Given the description of an element on the screen output the (x, y) to click on. 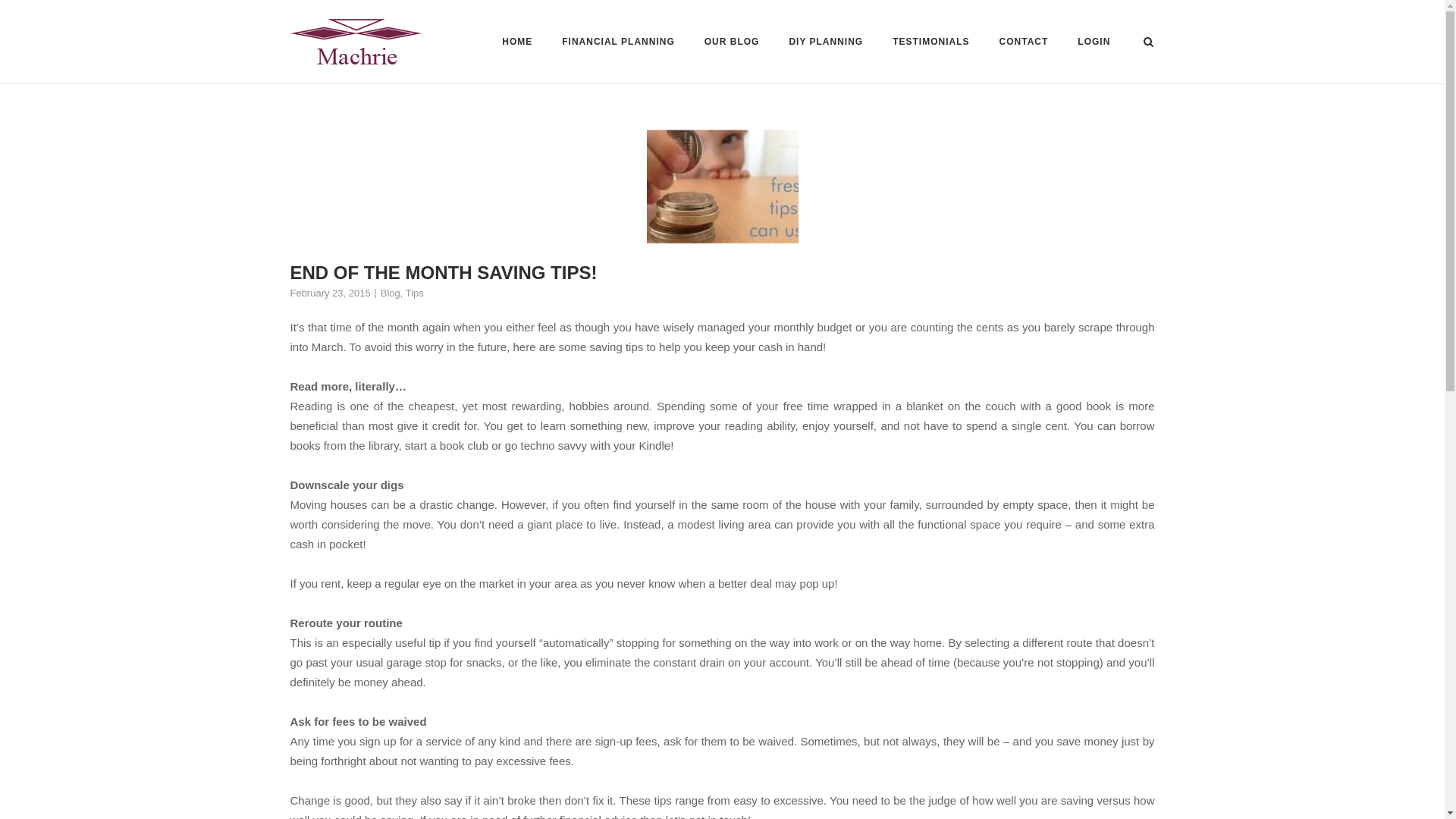
Blog (390, 292)
DIY PLANNING (826, 43)
CONTACT (1023, 44)
TESTIMONIALS (930, 44)
OUR BLOG (732, 44)
FINANCIAL PLANNING (618, 44)
Tips (414, 292)
HOME (517, 44)
LOGIN (1093, 44)
